Given the description of an element on the screen output the (x, y) to click on. 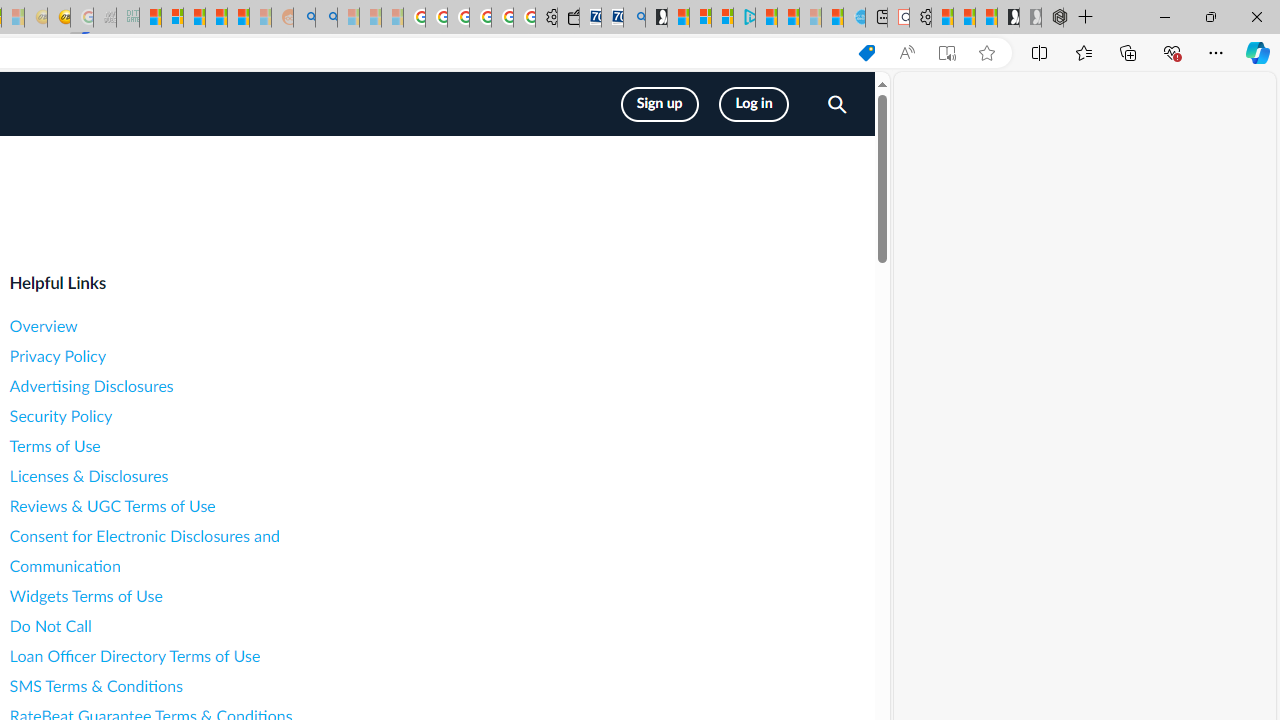
Reviews & UGC Terms of Use (188, 506)
Advertising Disclosures (188, 385)
Loan Officer Directory Terms of Use (188, 655)
Consent for Electronic Disclosures and Communication (188, 551)
